Given the description of an element on the screen output the (x, y) to click on. 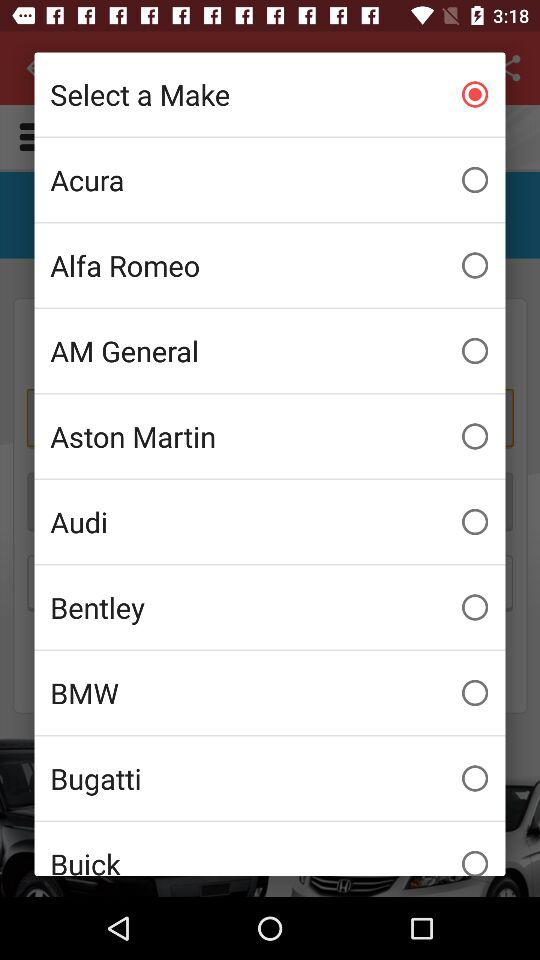
swipe until the alfa romeo icon (269, 265)
